Given the description of an element on the screen output the (x, y) to click on. 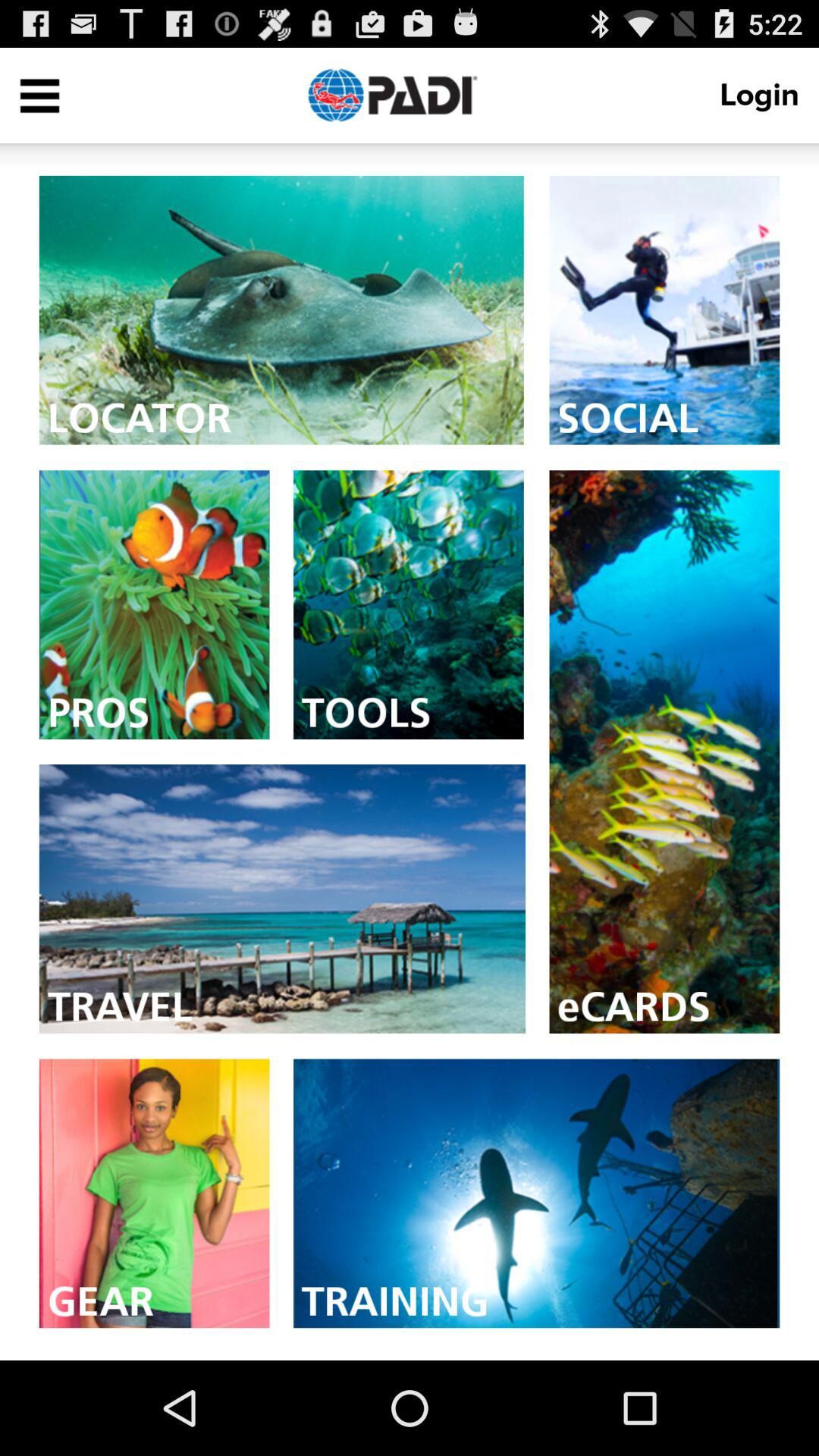
drill down into locator tile (281, 309)
